Given the description of an element on the screen output the (x, y) to click on. 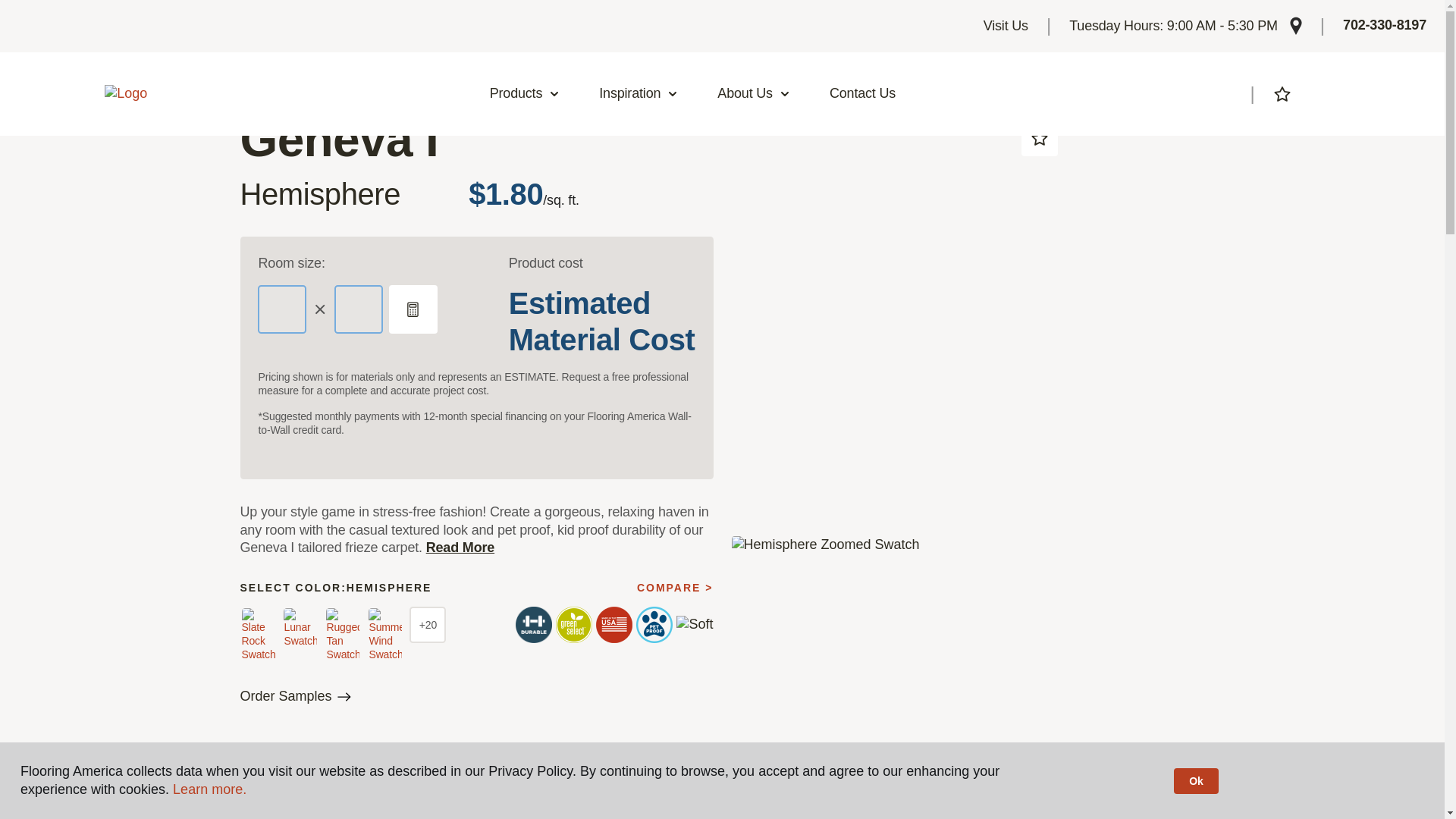
702-330-8197 (1384, 25)
Contact Us (862, 94)
Products (525, 94)
Inspiration (638, 94)
Visit Us (1005, 26)
About Us (753, 94)
